Given the description of an element on the screen output the (x, y) to click on. 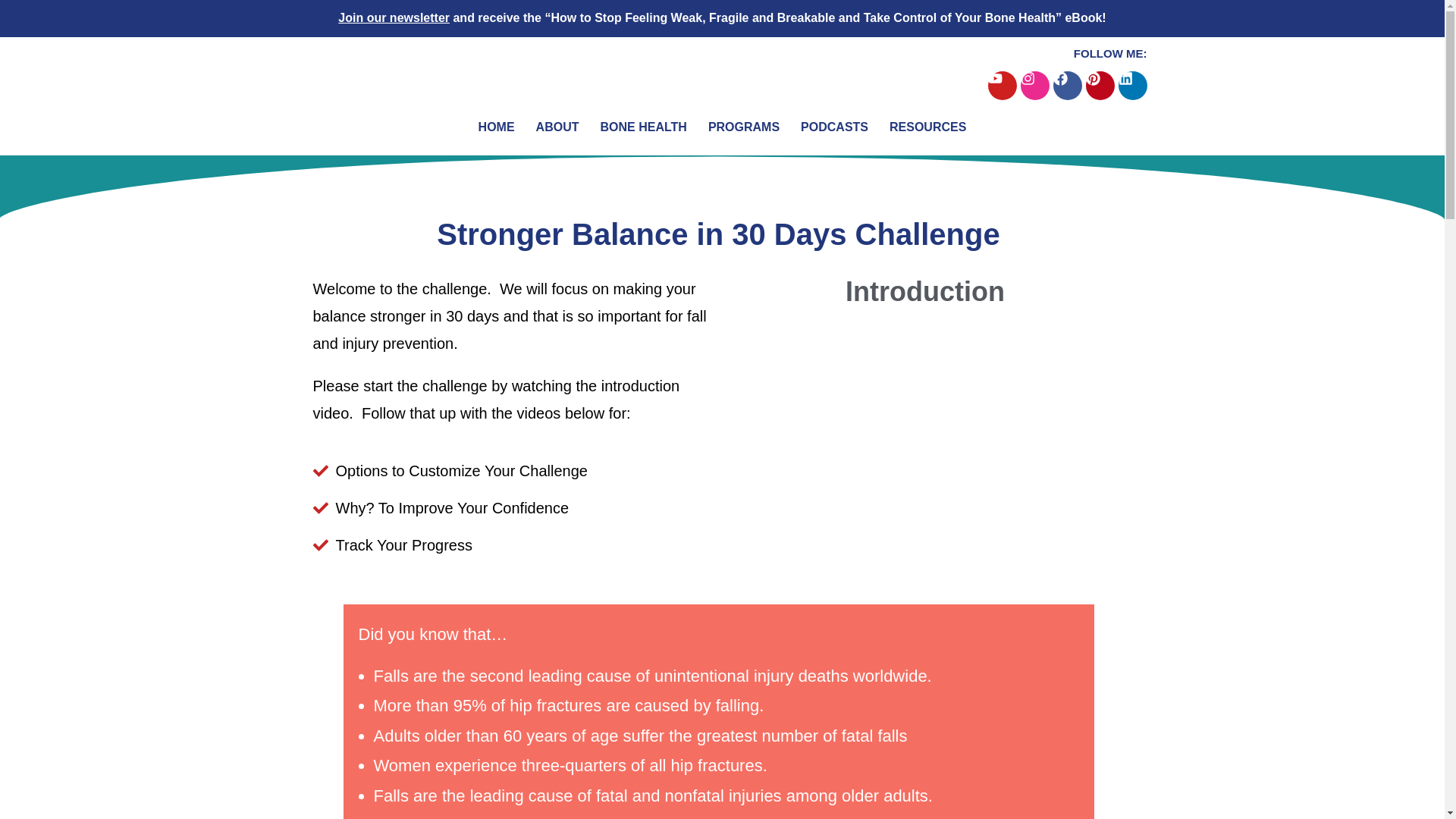
BONE HEALTH (642, 127)
PROGRAMS (743, 127)
PODCASTS (834, 127)
ABOUT (557, 127)
Join our newsletter (393, 17)
HOME (496, 127)
RESOURCES (927, 127)
